Given the description of an element on the screen output the (x, y) to click on. 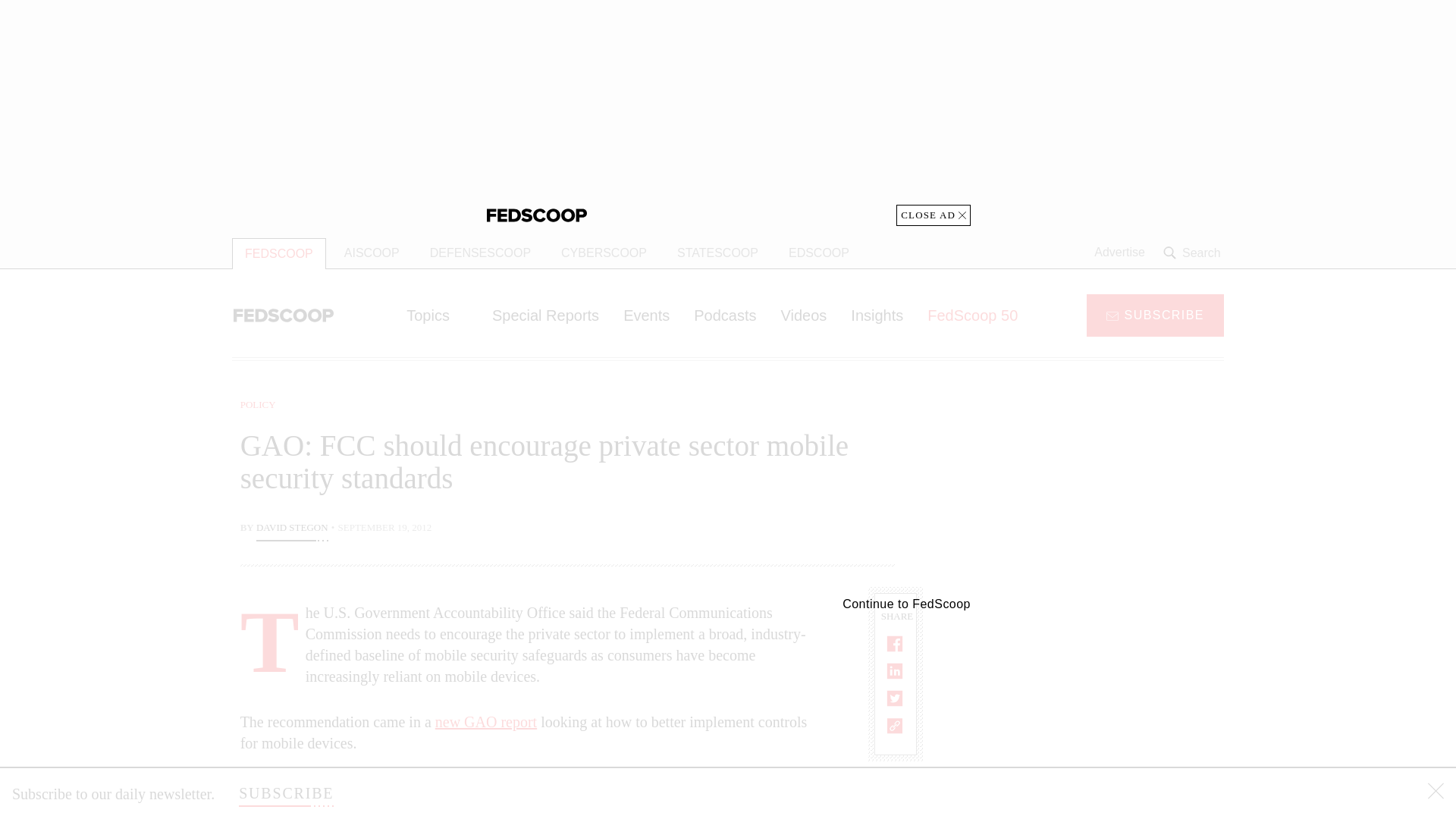
Podcasts (724, 315)
AISCOOP (371, 253)
FEDSCOOP (278, 253)
new GAO report (486, 721)
Advertise (1119, 252)
Videos (804, 315)
DEFENSESCOOP (480, 253)
3rd party ad content (1101, 492)
FedScoop 50 (972, 315)
